Given the description of an element on the screen output the (x, y) to click on. 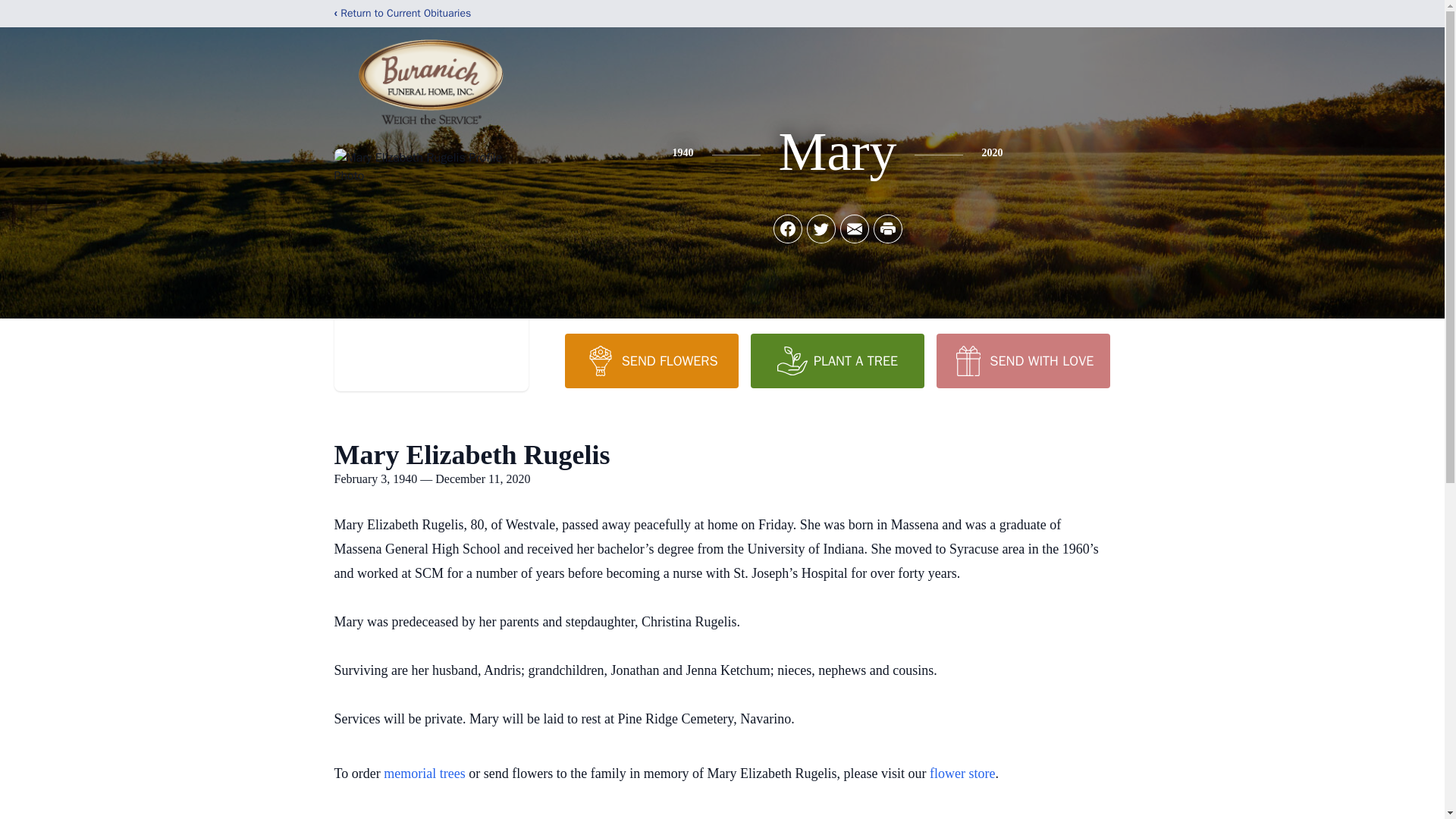
flower store (962, 773)
PLANT A TREE (837, 360)
memorial trees (424, 773)
SEND WITH LOVE (1022, 360)
SEND FLOWERS (651, 360)
